Given the description of an element on the screen output the (x, y) to click on. 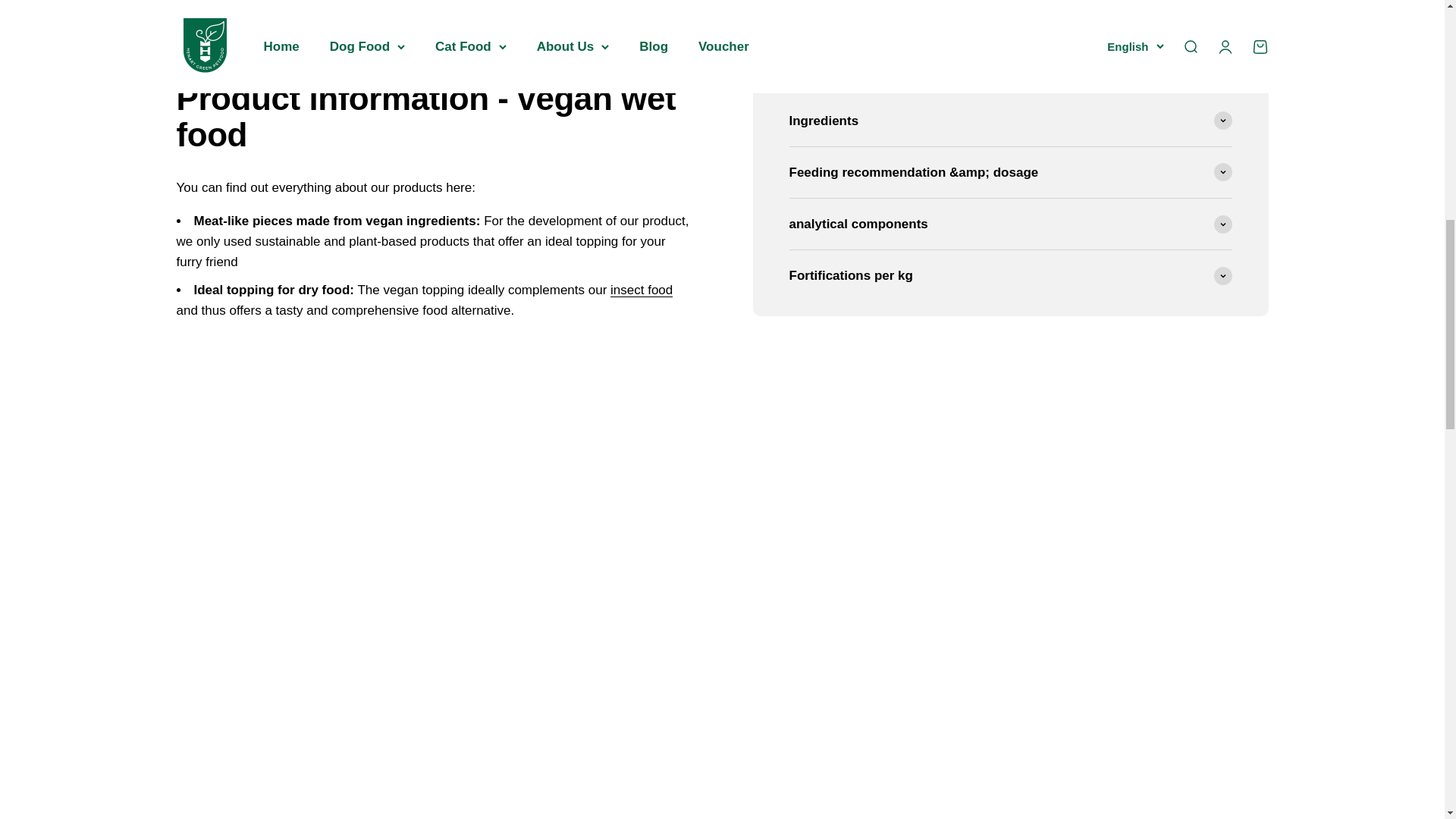
Sustainable dog food (641, 289)
